Given the description of an element on the screen output the (x, y) to click on. 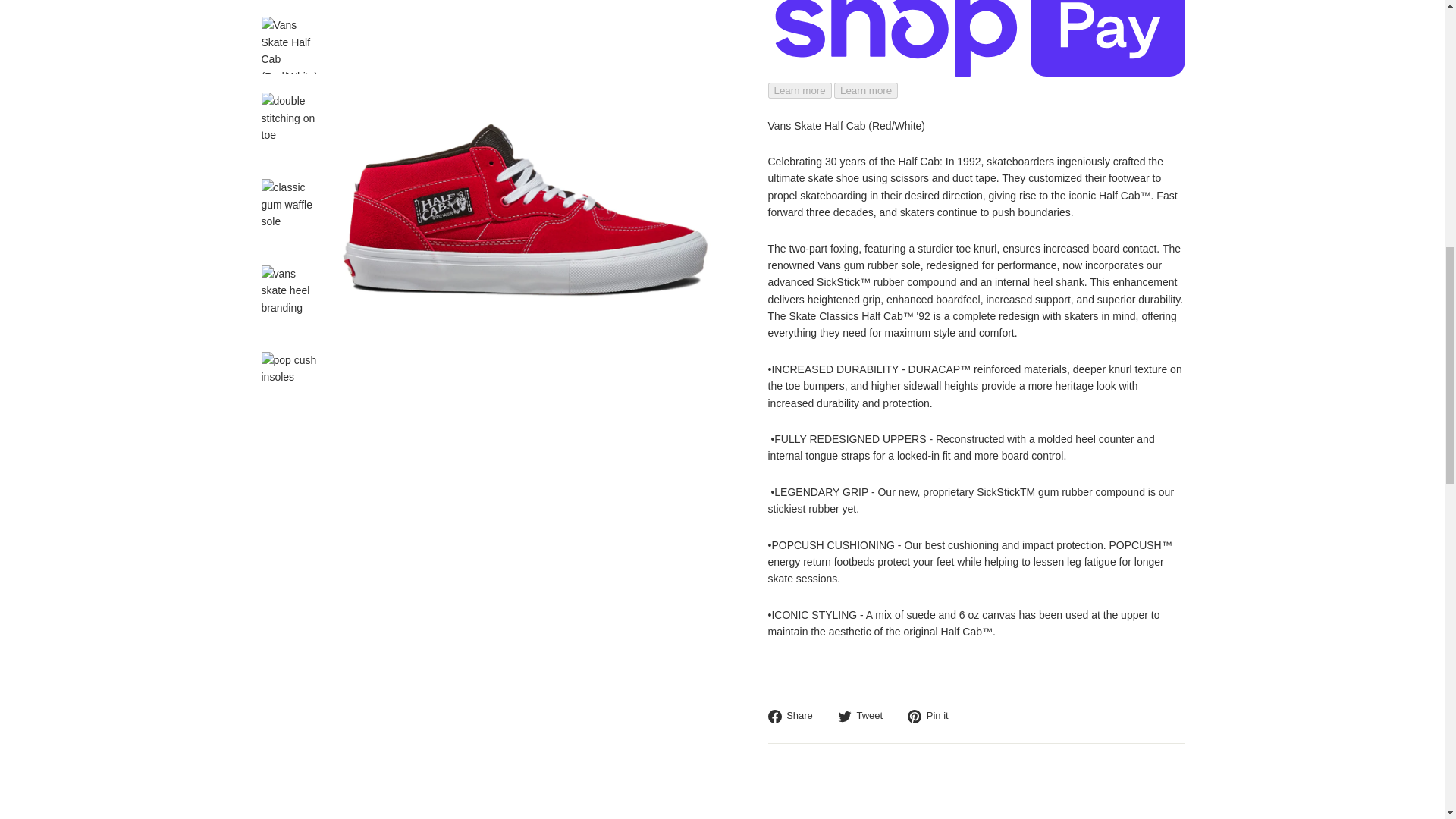
Tweet on Twitter (865, 715)
Share on Facebook (795, 715)
twitter (844, 716)
Pin on Pinterest (933, 715)
